Given the description of an element on the screen output the (x, y) to click on. 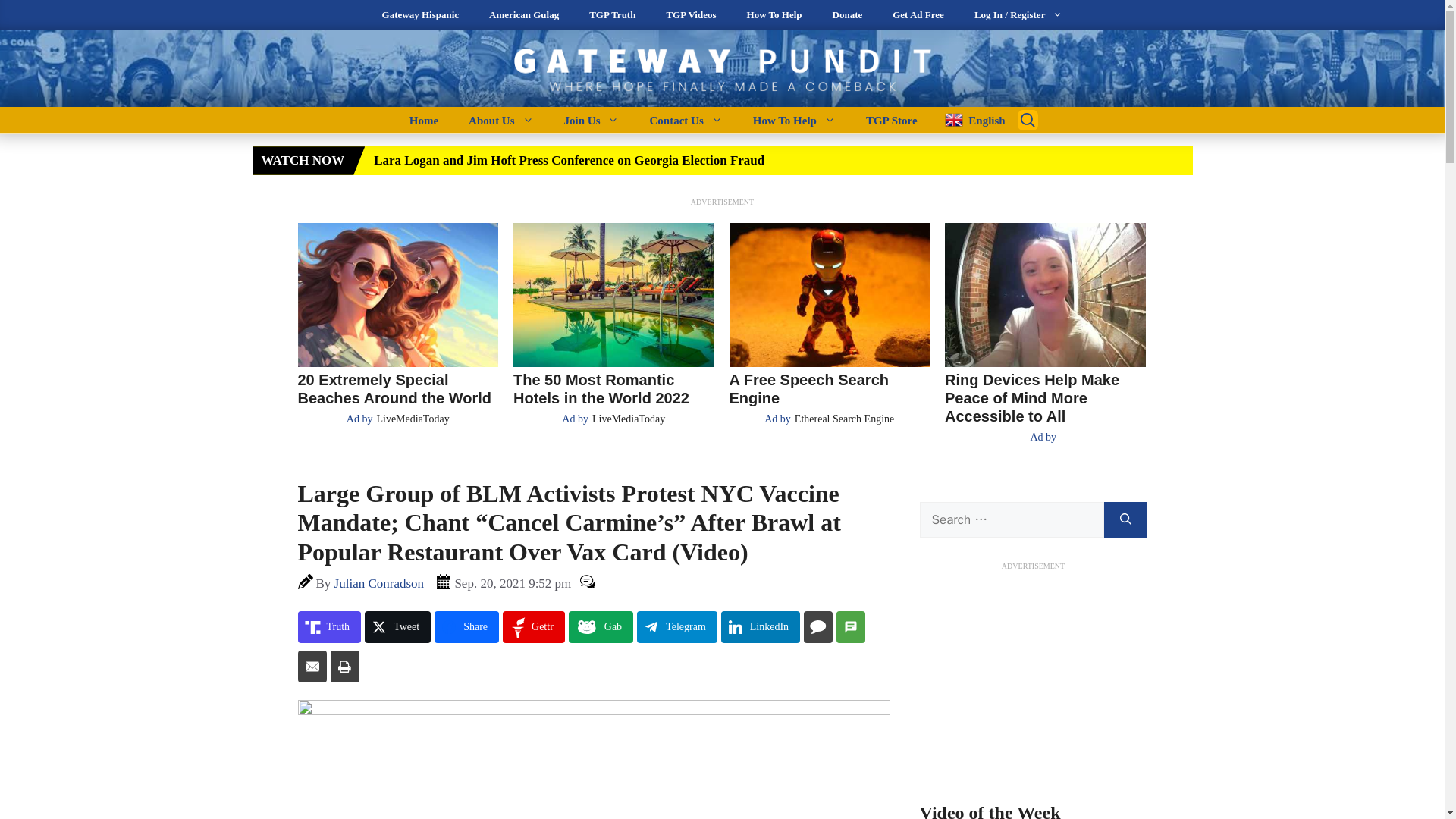
How To Help (794, 120)
View all posts by Julian Conradson (379, 583)
Share on Gab (601, 626)
American Gulag (523, 15)
Share on Truth (329, 626)
Share on Telegram (677, 626)
How To Help (774, 15)
English (969, 120)
TGP Videos (690, 15)
Share on Tweet (397, 626)
Join Us (591, 120)
TGP Store (891, 120)
Get Ad Free (918, 15)
Share on Gettr (533, 626)
